Given the description of an element on the screen output the (x, y) to click on. 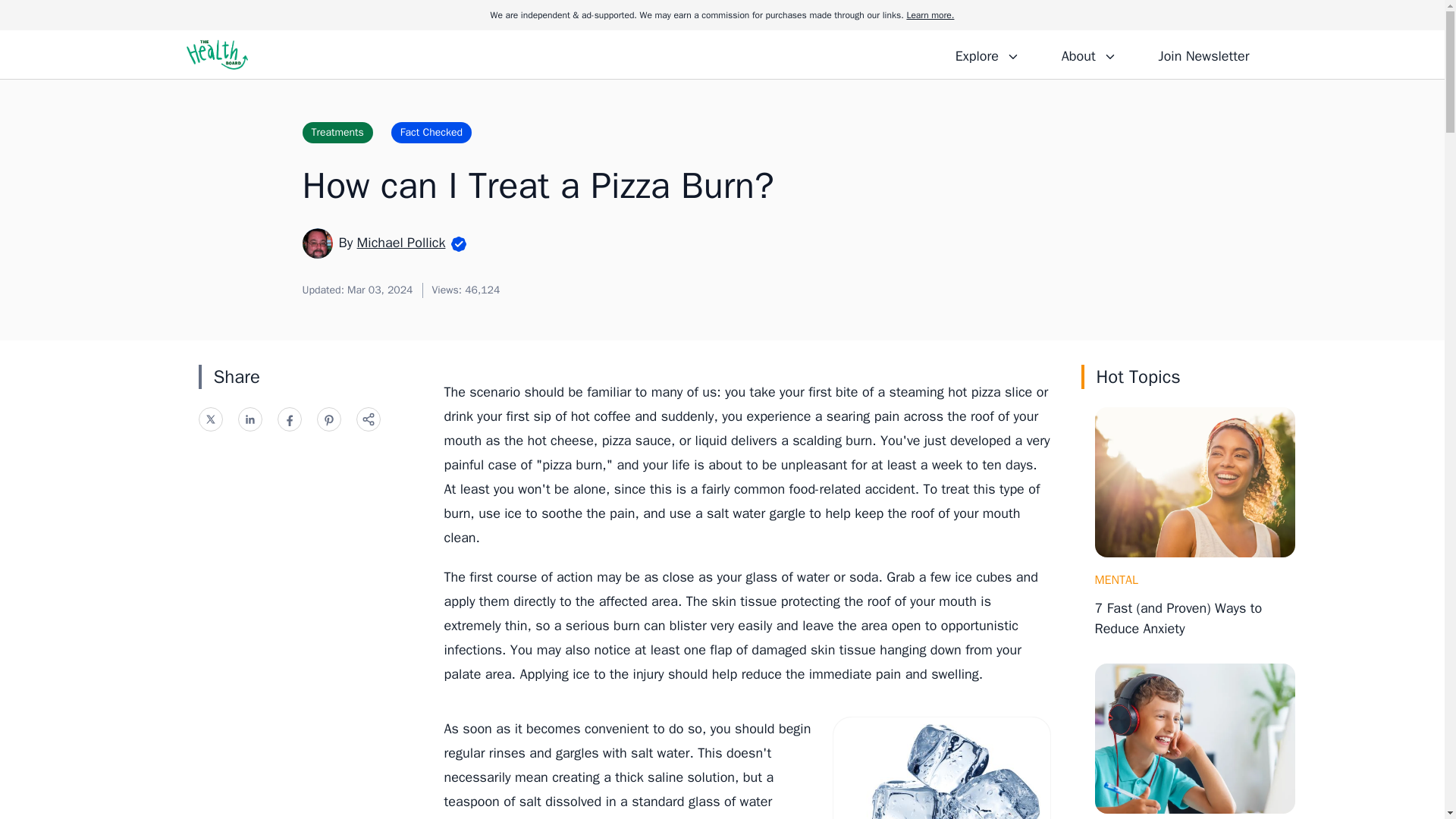
Learn more. (929, 15)
Fact Checked (431, 132)
Join Newsletter (1202, 54)
Treatments (336, 132)
About (1088, 54)
Explore (986, 54)
Michael Pollick (400, 242)
